Given the description of an element on the screen output the (x, y) to click on. 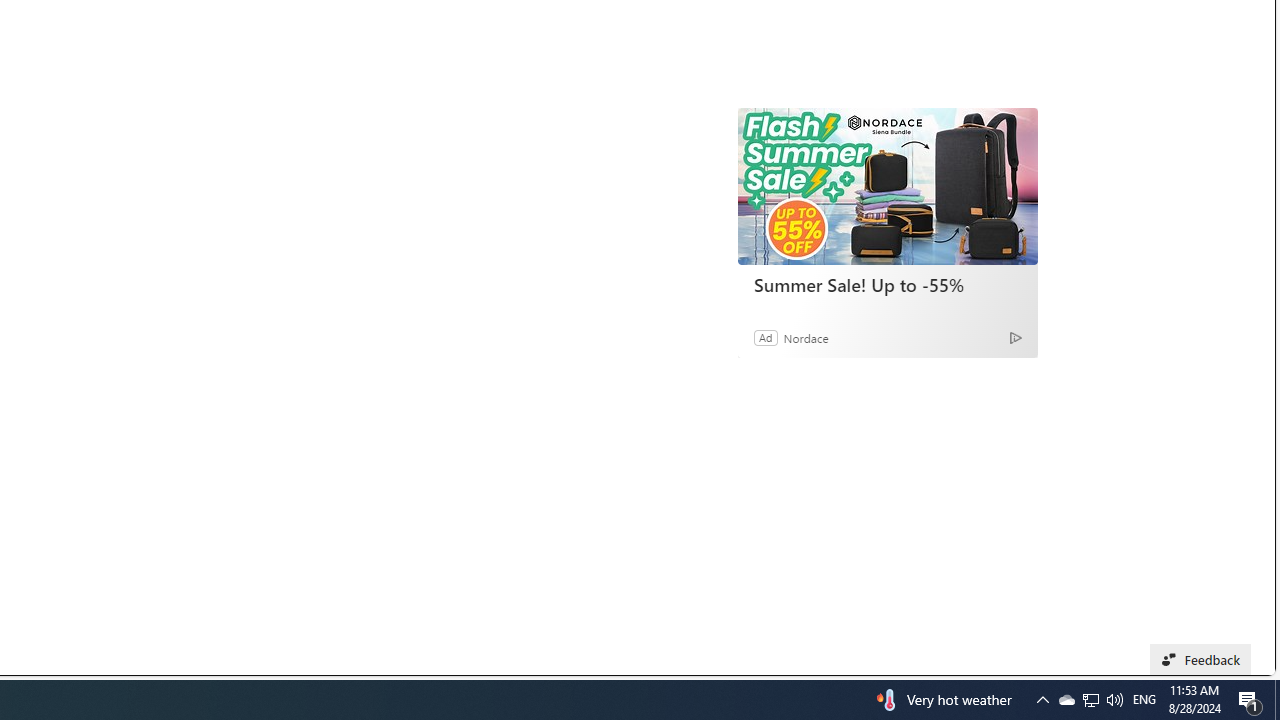
Summer Sale! Up to -55% (888, 186)
Summer Sale! Up to -55% (887, 284)
